Given the description of an element on the screen output the (x, y) to click on. 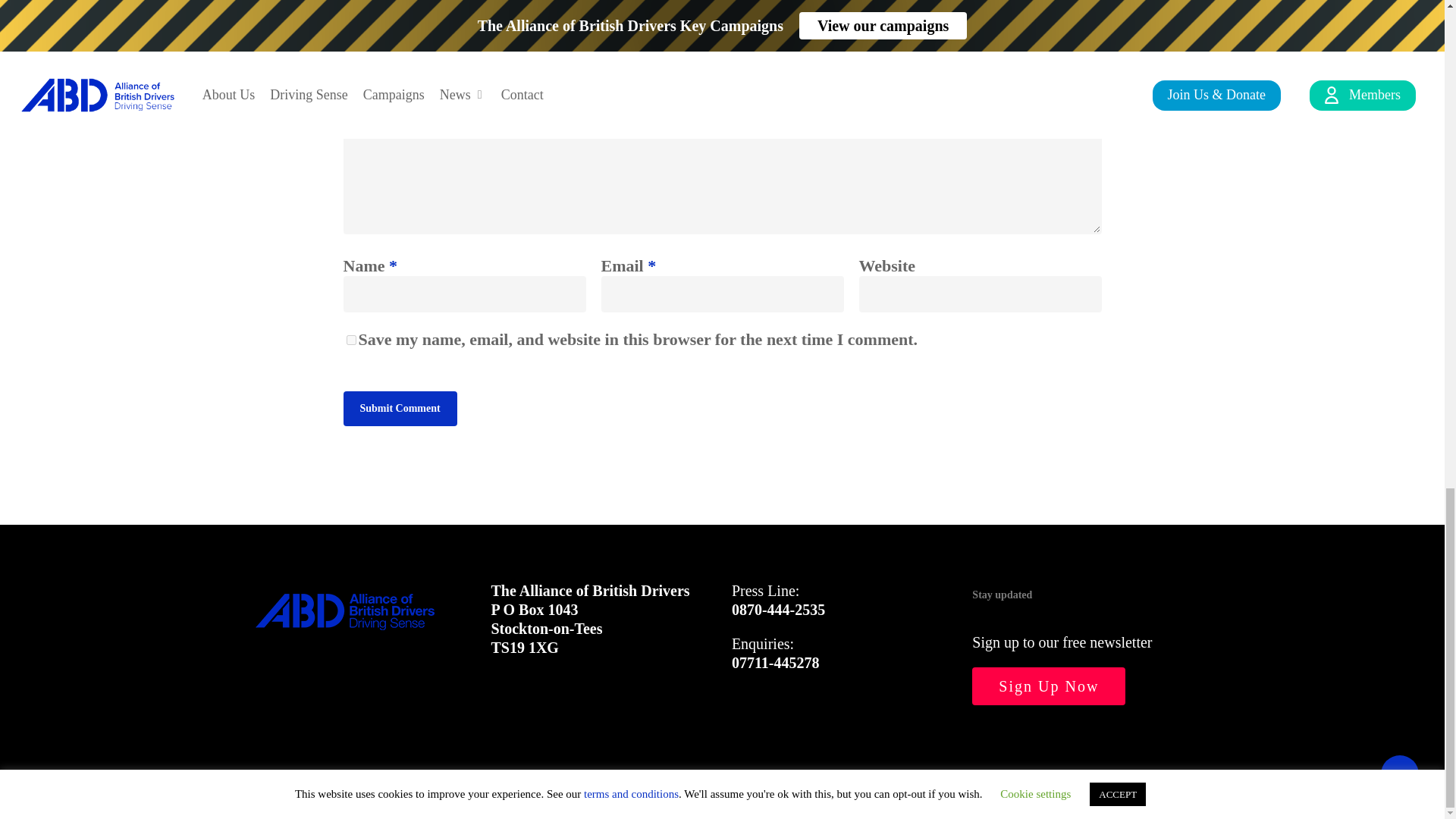
yes (350, 339)
Submit Comment (399, 408)
Sign Up Now (1048, 686)
07711-445278 (775, 662)
0870-444-2535 (778, 609)
Submit Comment (399, 408)
